Given the description of an element on the screen output the (x, y) to click on. 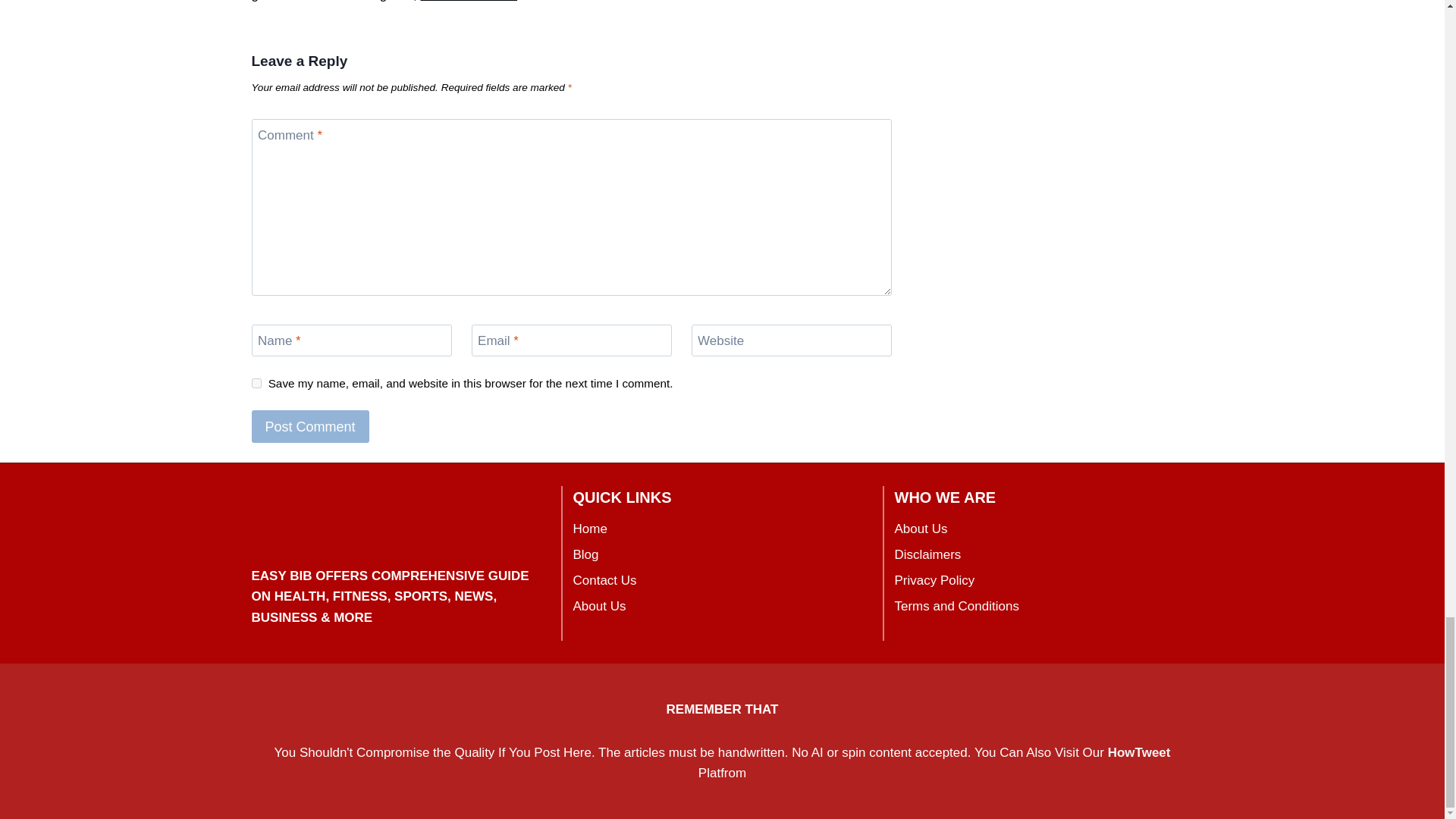
Post Comment (310, 426)
yes (256, 383)
Post Comment (310, 426)
Contact Us (722, 580)
stress-free home (469, 1)
About Us (722, 606)
About Us (1044, 529)
Home (722, 529)
Blog (722, 555)
